Given the description of an element on the screen output the (x, y) to click on. 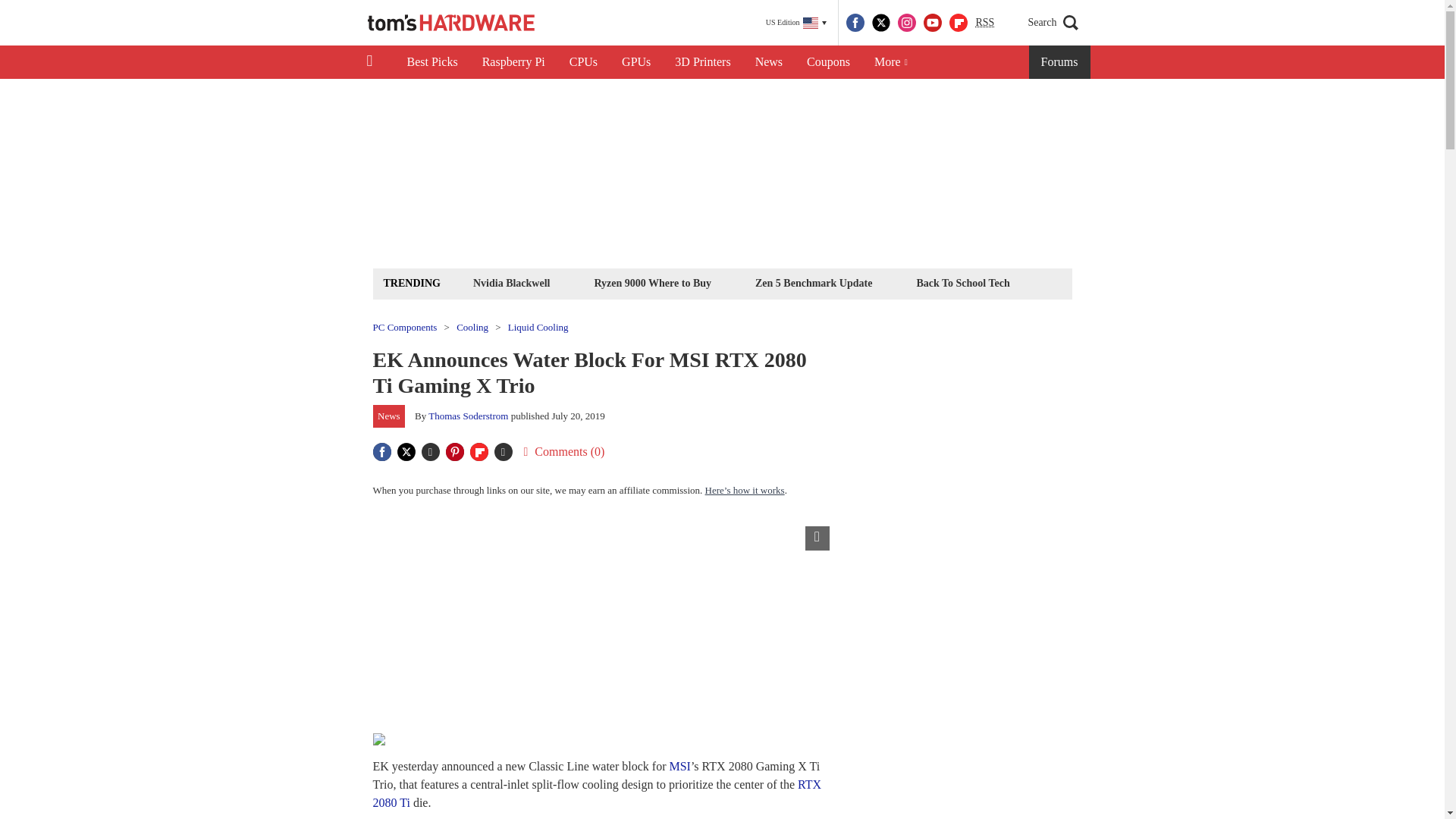
CPUs (583, 61)
Raspberry Pi (513, 61)
Best Picks (431, 61)
Really Simple Syndication (984, 21)
GPUs (636, 61)
News (768, 61)
RSS (984, 22)
Forums (1059, 61)
US Edition (796, 22)
Coupons (827, 61)
